Given the description of an element on the screen output the (x, y) to click on. 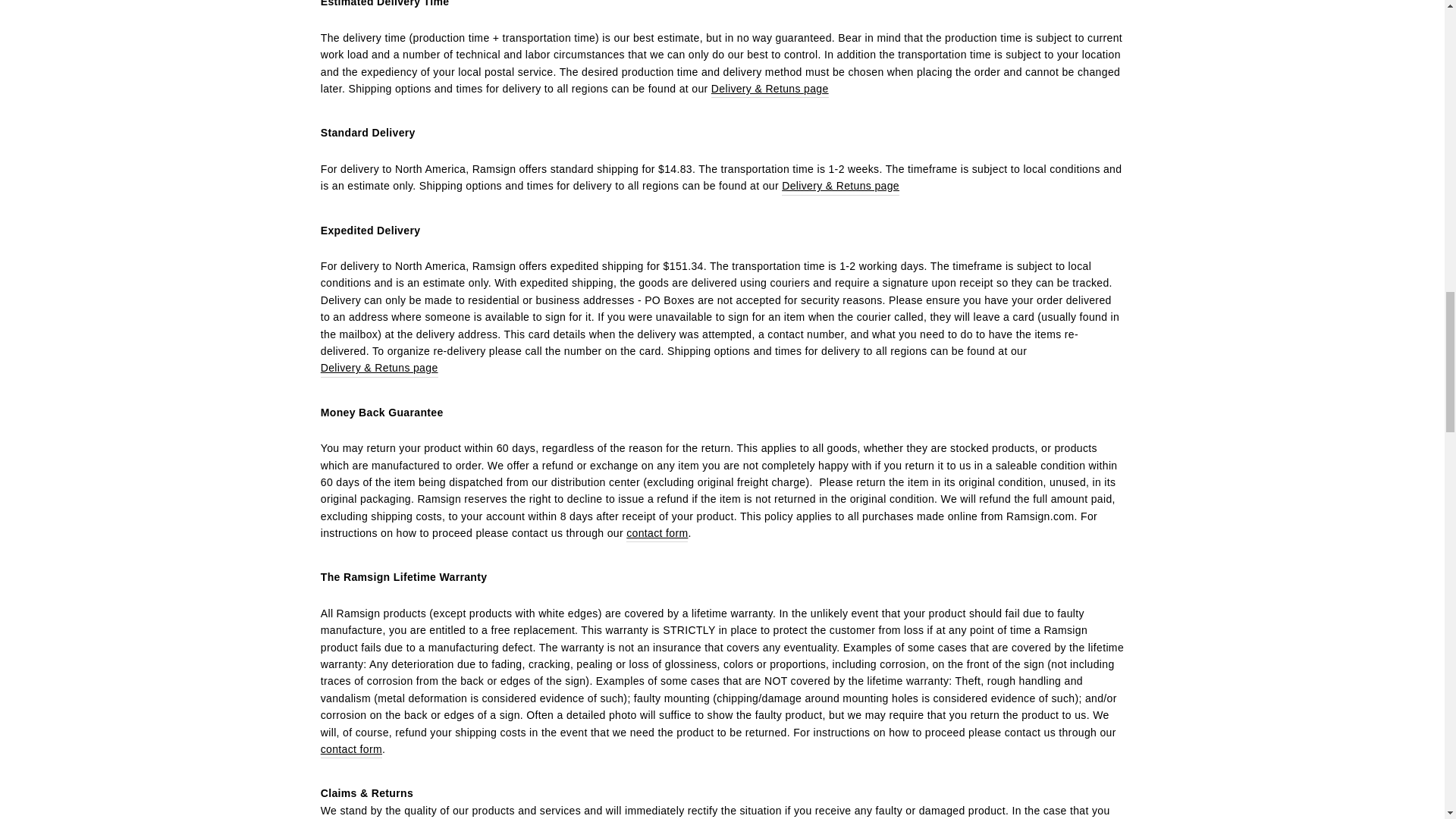
Delivery and Returns (840, 185)
Delivery and Returns (379, 367)
Contact Us (656, 533)
Delivery and Returns (769, 88)
Contact Us (350, 749)
